Given the description of an element on the screen output the (x, y) to click on. 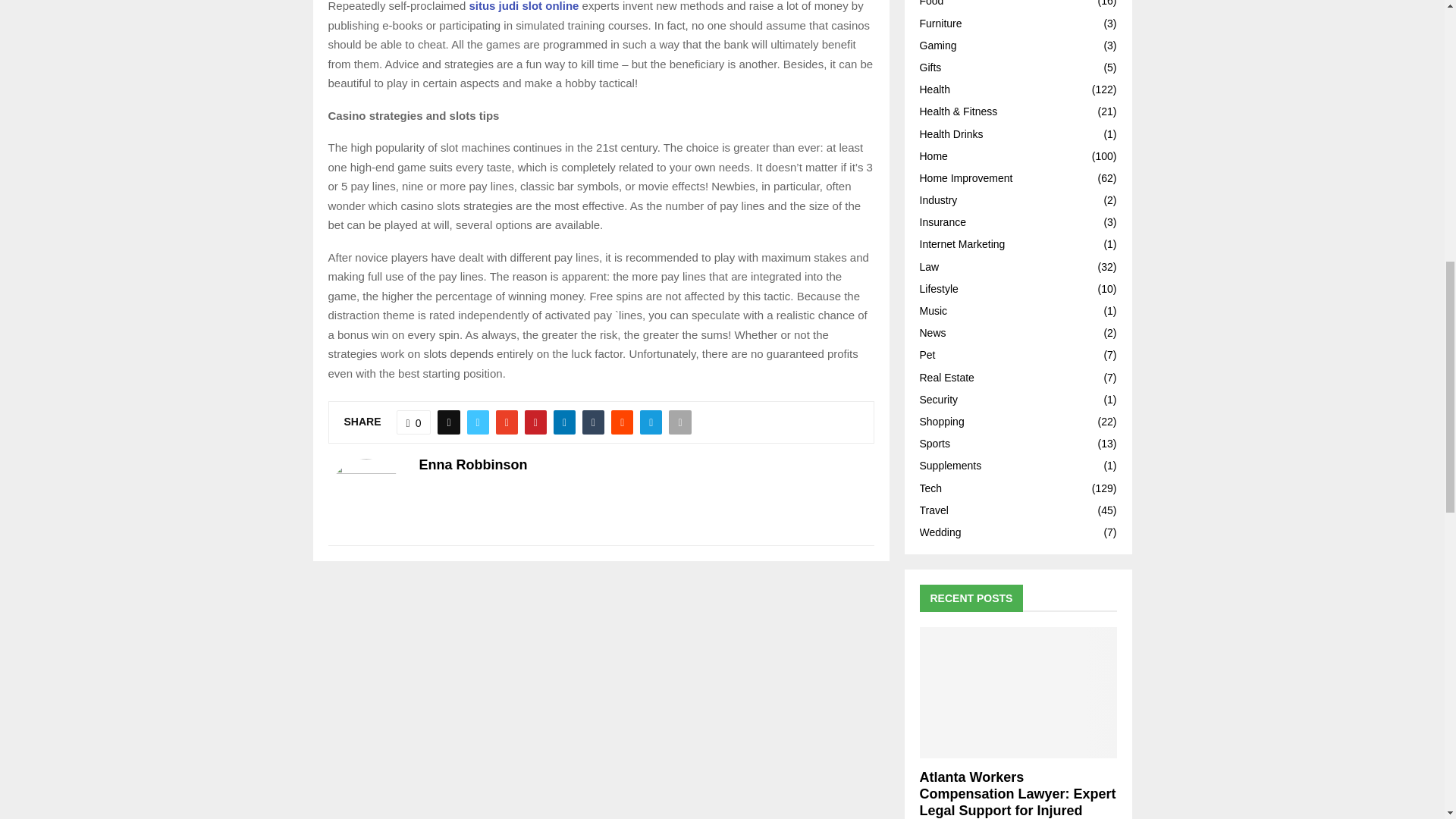
Like (413, 422)
0 (413, 422)
situs judi slot online (523, 6)
